Given the description of an element on the screen output the (x, y) to click on. 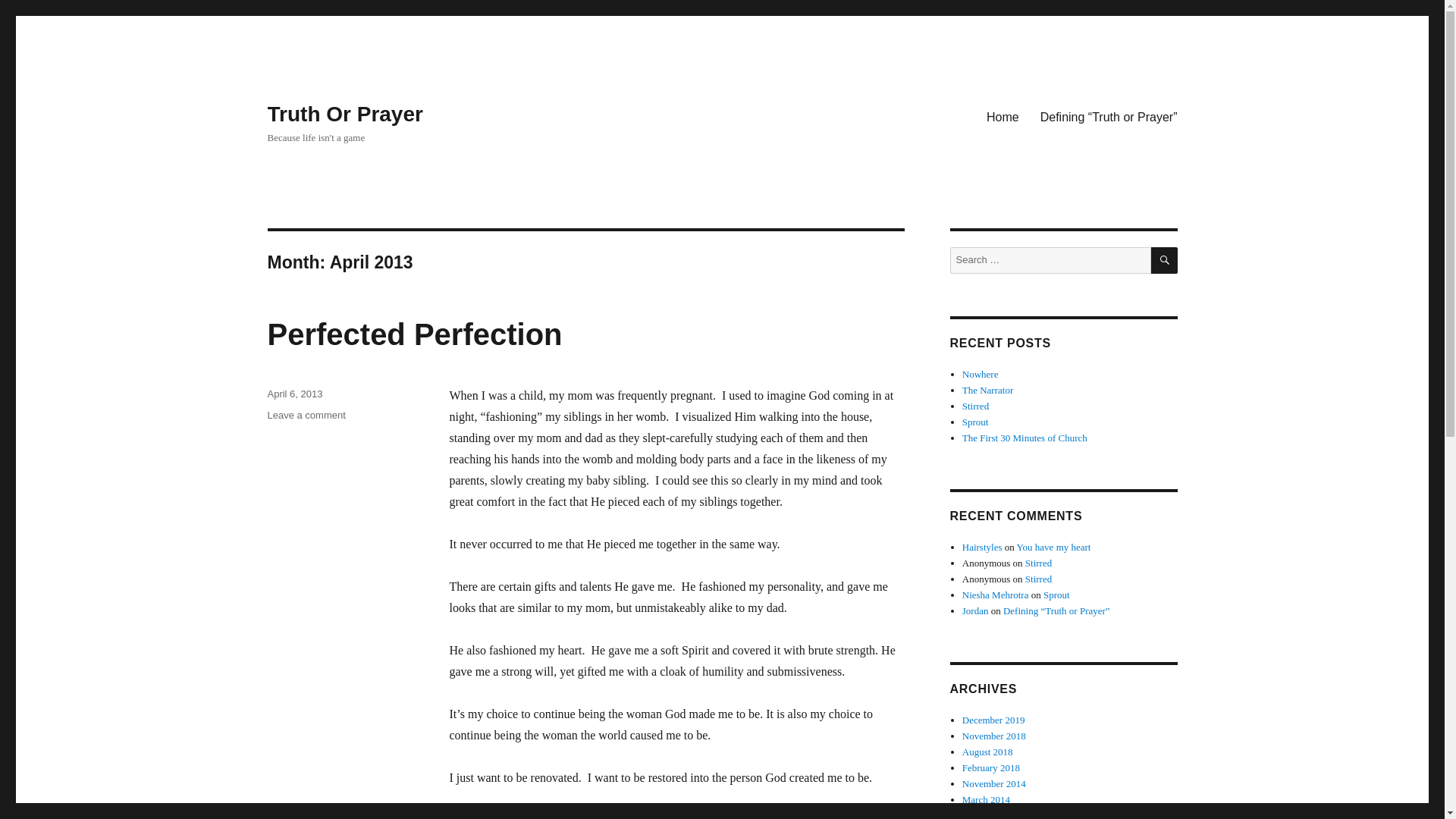
Sprout (975, 421)
Stirred (1038, 562)
February 2014 (305, 414)
Perfected Perfection (991, 814)
Hairstyles (414, 334)
Stirred (982, 546)
Niesha Mehrotra (1038, 578)
You have my heart (995, 594)
February 2018 (1053, 546)
Sprout (991, 767)
The First 30 Minutes of Church (1056, 594)
Nowhere (1024, 437)
Stirred (980, 374)
November 2014 (975, 405)
